Given the description of an element on the screen output the (x, y) to click on. 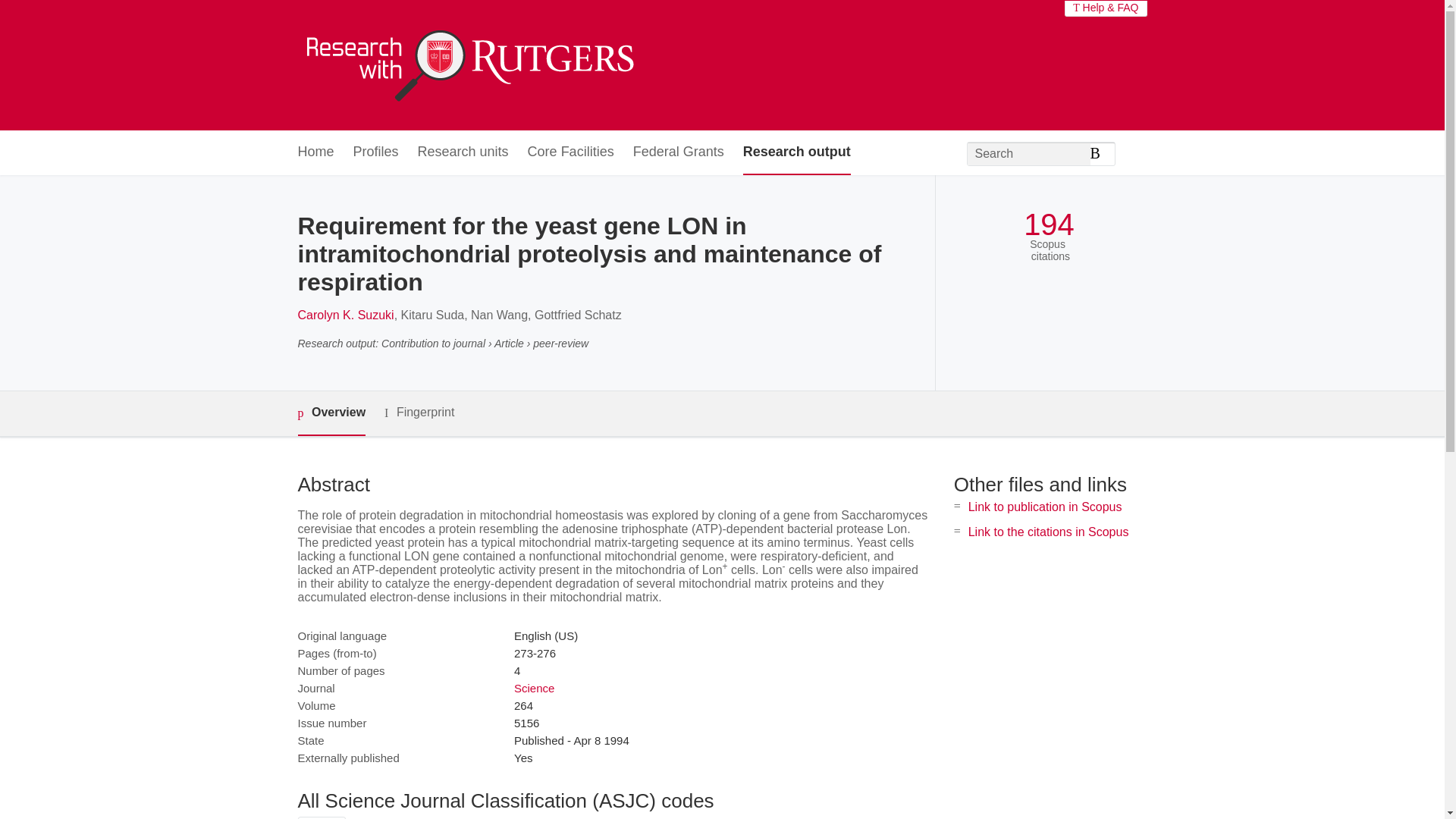
Core Facilities (570, 152)
Fingerprint (419, 412)
Federal Grants (678, 152)
Profiles (375, 152)
Science (533, 687)
Research output (796, 152)
Overview (331, 413)
Link to publication in Scopus (1045, 506)
Carolyn K. Suzuki (345, 314)
Rutgers, The State University of New Jersey Home (467, 65)
194 (1048, 224)
Link to the citations in Scopus (1048, 531)
Research units (462, 152)
